Given the description of an element on the screen output the (x, y) to click on. 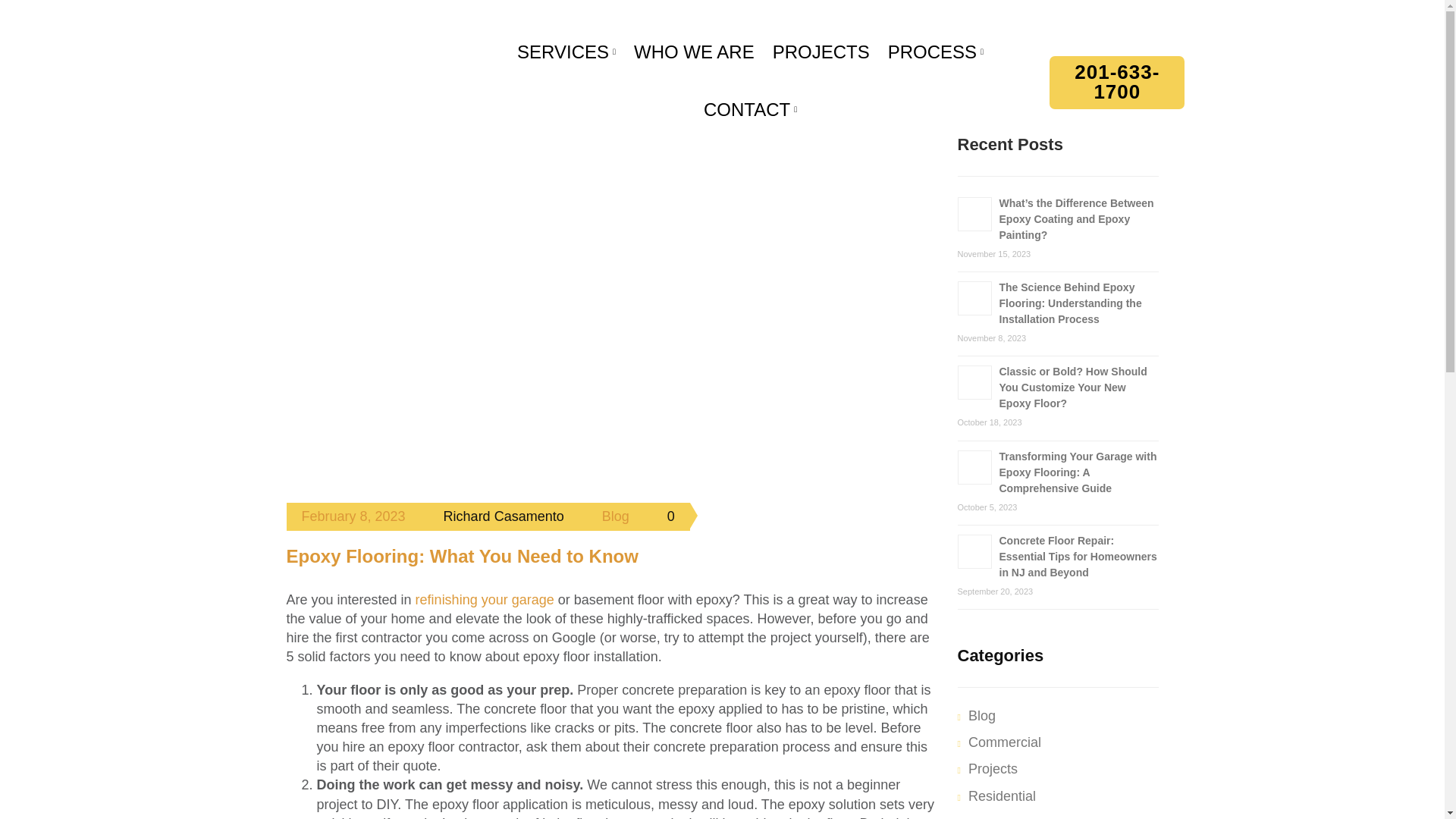
201-633-1700 (1117, 82)
Epoxy Flooring: What You Need to Know (462, 556)
PROCESS (932, 53)
Blog (615, 516)
SERVICES (562, 53)
WHO WE ARE (693, 53)
refinishing your garage (484, 599)
